Given the description of an element on the screen output the (x, y) to click on. 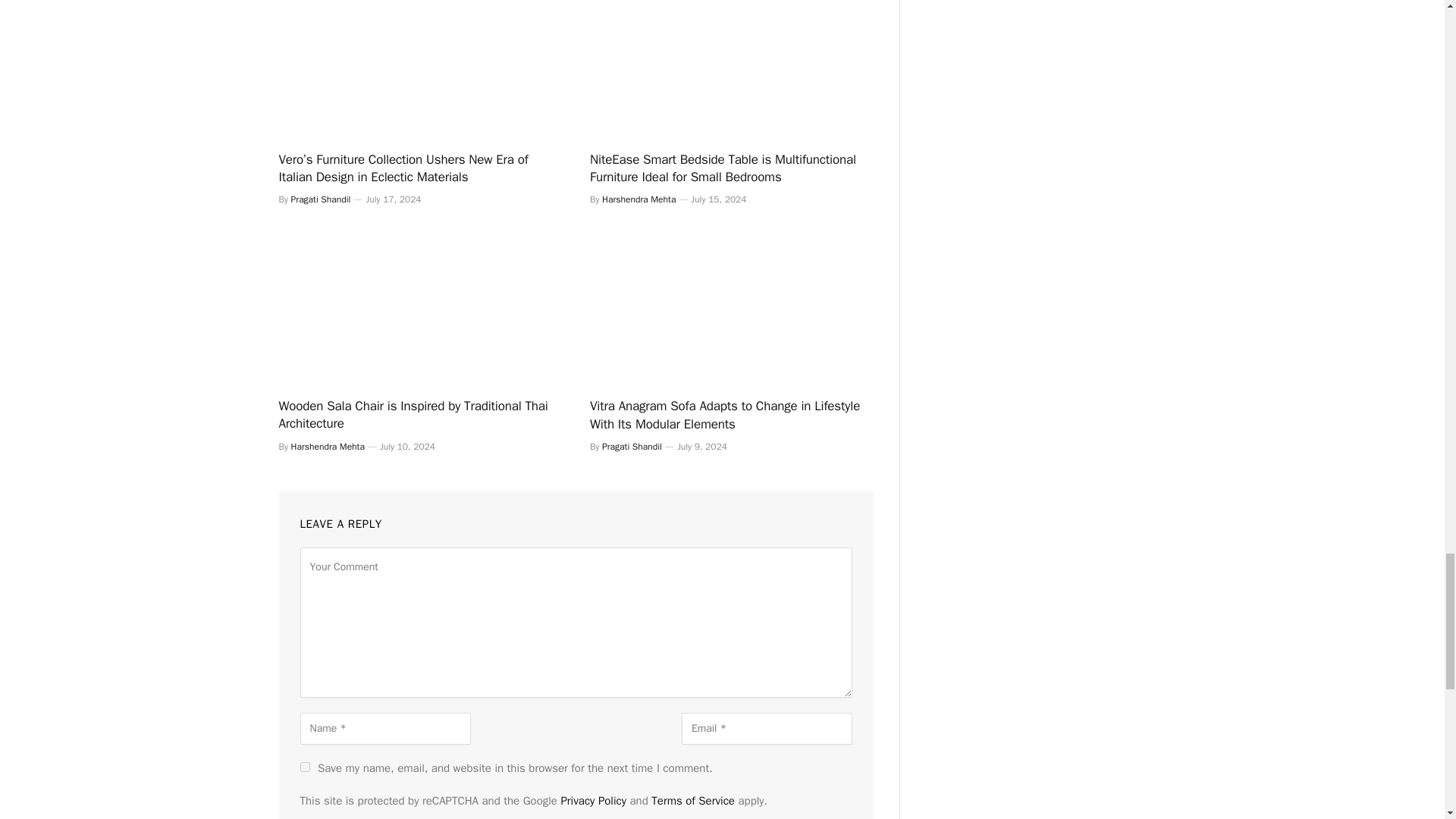
yes (304, 767)
